Given the description of an element on the screen output the (x, y) to click on. 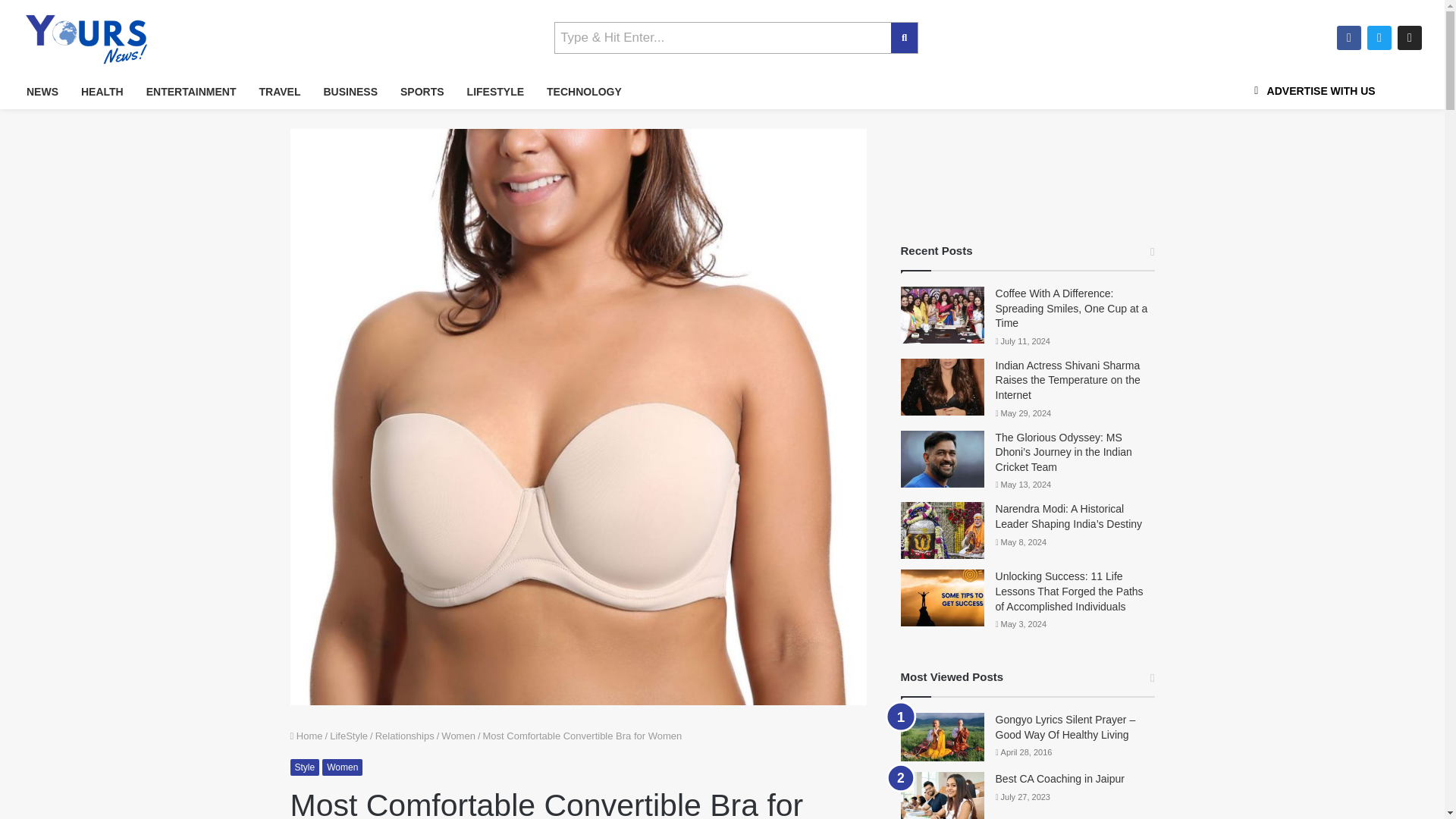
LIFESTYLE (495, 91)
SPORTS (421, 91)
ENTERTAINMENT (191, 91)
ADVERTISE WITH US (1312, 90)
Search (722, 37)
NEWS (41, 91)
TRAVEL (279, 91)
BUSINESS (349, 91)
TECHNOLOGY (584, 91)
HEALTH (102, 91)
